Given the description of an element on the screen output the (x, y) to click on. 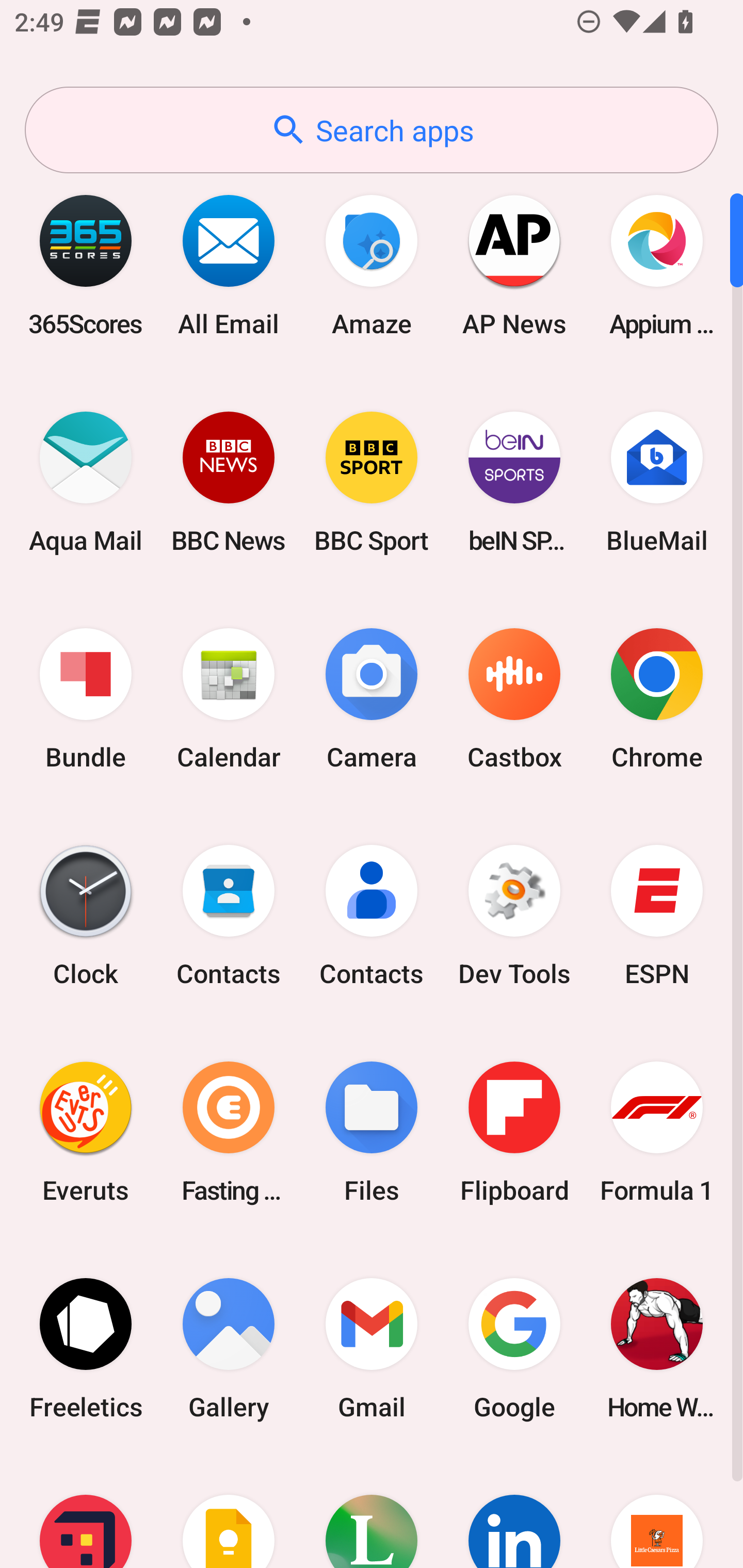
  Search apps (371, 130)
365Scores (85, 264)
All Email (228, 264)
Amaze (371, 264)
AP News (514, 264)
Appium Settings (656, 264)
Aqua Mail (85, 482)
BBC News (228, 482)
BBC Sport (371, 482)
beIN SPORTS (514, 482)
BlueMail (656, 482)
Bundle (85, 699)
Calendar (228, 699)
Camera (371, 699)
Castbox (514, 699)
Chrome (656, 699)
Clock (85, 915)
Contacts (228, 915)
Contacts (371, 915)
Dev Tools (514, 915)
ESPN (656, 915)
Everuts (85, 1131)
Fasting Coach (228, 1131)
Files (371, 1131)
Flipboard (514, 1131)
Formula 1 (656, 1131)
Freeletics (85, 1348)
Gallery (228, 1348)
Gmail (371, 1348)
Google (514, 1348)
Home Workout (656, 1348)
Hotels.com (85, 1512)
Keep Notes (228, 1512)
Lifesum (371, 1512)
LinkedIn (514, 1512)
Little Caesars Pizza (656, 1512)
